Given the description of an element on the screen output the (x, y) to click on. 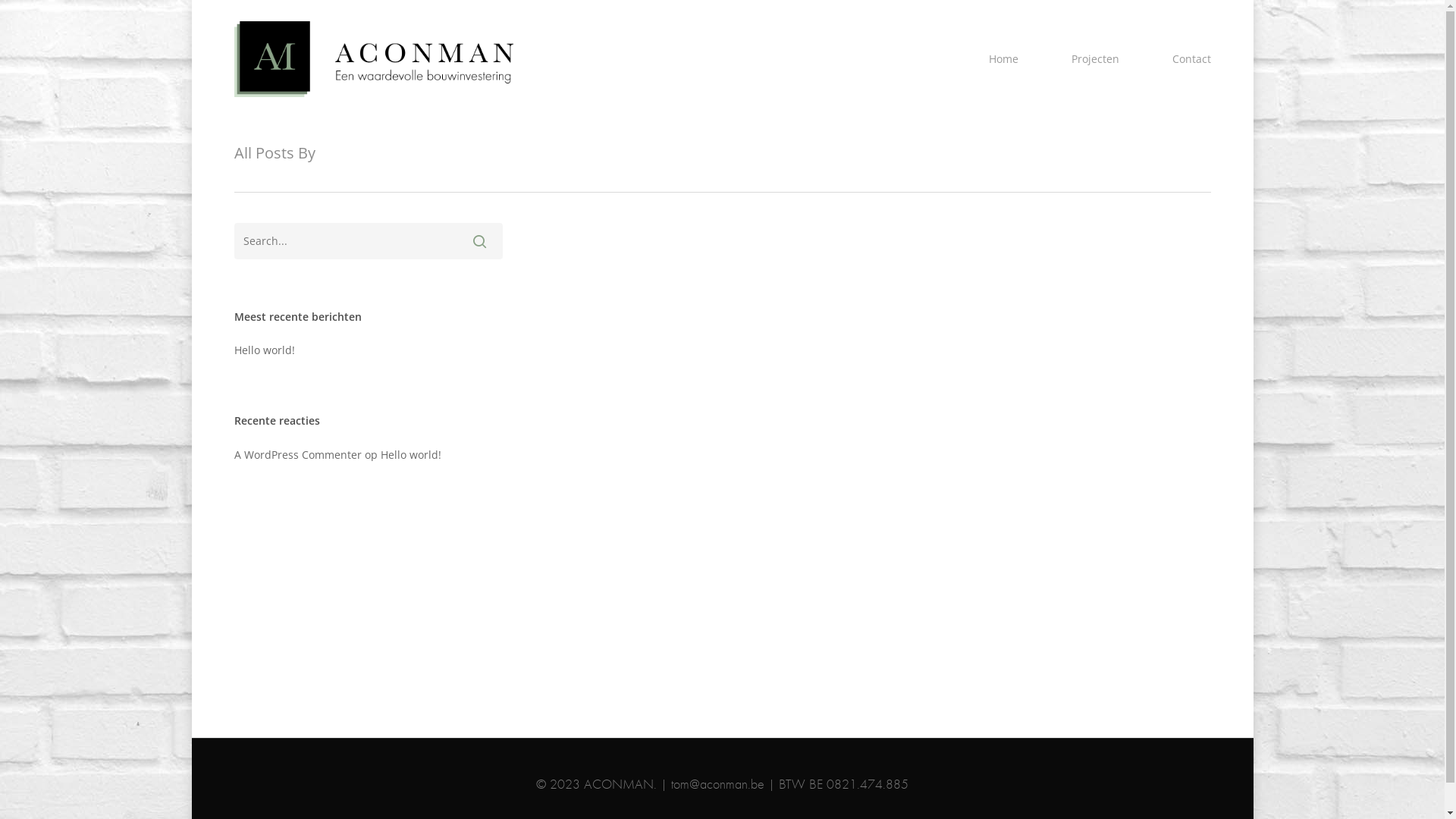
Hello world! Element type: text (367, 350)
Projecten Element type: text (1094, 58)
Search for: Element type: hover (367, 240)
Hello world! Element type: text (410, 454)
A WordPress Commenter Element type: text (296, 454)
Home Element type: text (1003, 58)
Contact Element type: text (1191, 58)
